Given the description of an element on the screen output the (x, y) to click on. 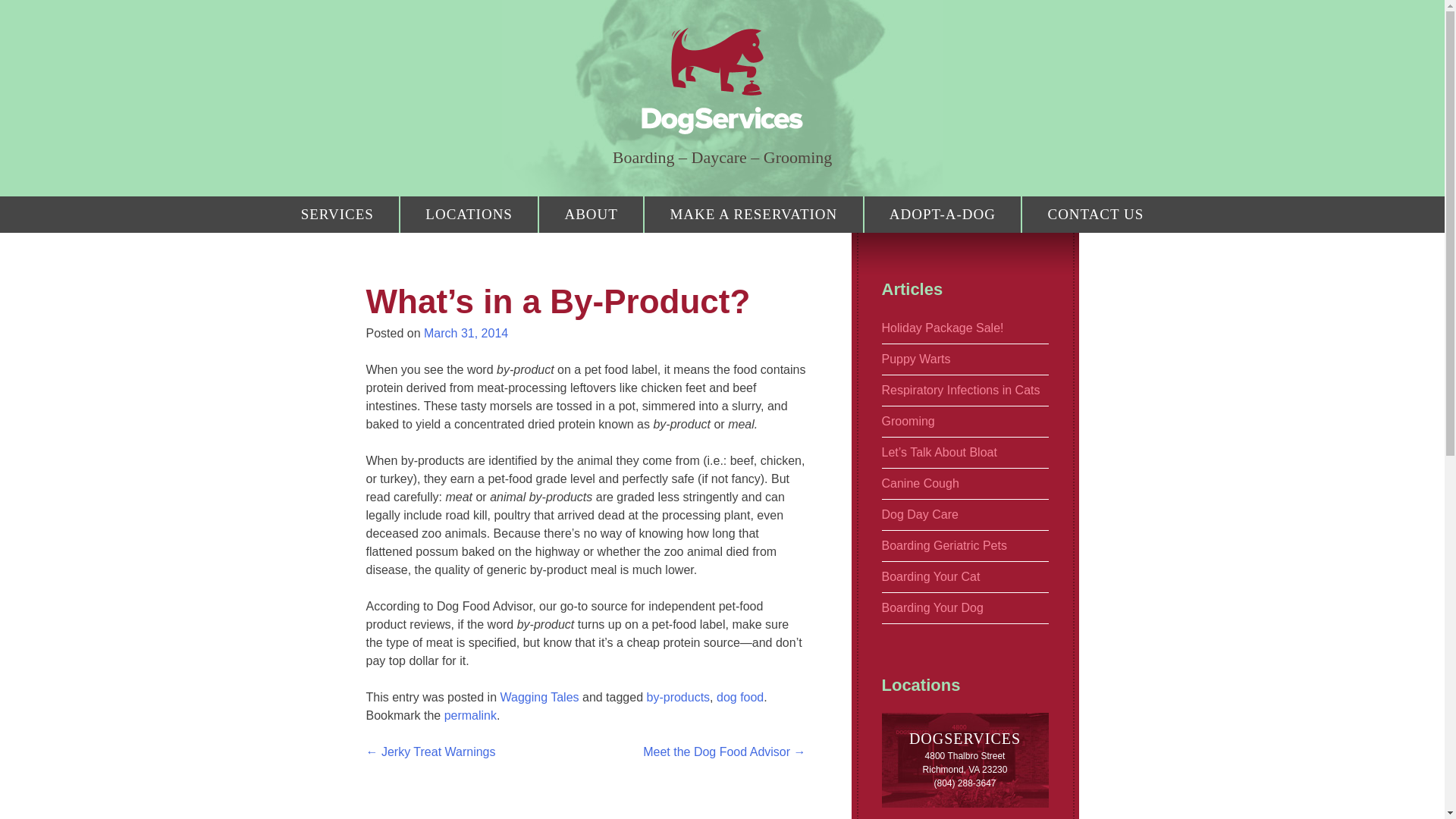
Respiratory Infections in Cats (964, 390)
Boarding Geriatric Pets (964, 546)
March 31, 2014 (465, 332)
LOCATIONS (468, 214)
Boarding Your Cat (964, 577)
Holiday Package Sale! (964, 328)
Puppy Warts (964, 359)
MAKE A RESERVATION (753, 214)
Wagging Tales (538, 697)
ADOPT-A-DOG (943, 214)
